Given the description of an element on the screen output the (x, y) to click on. 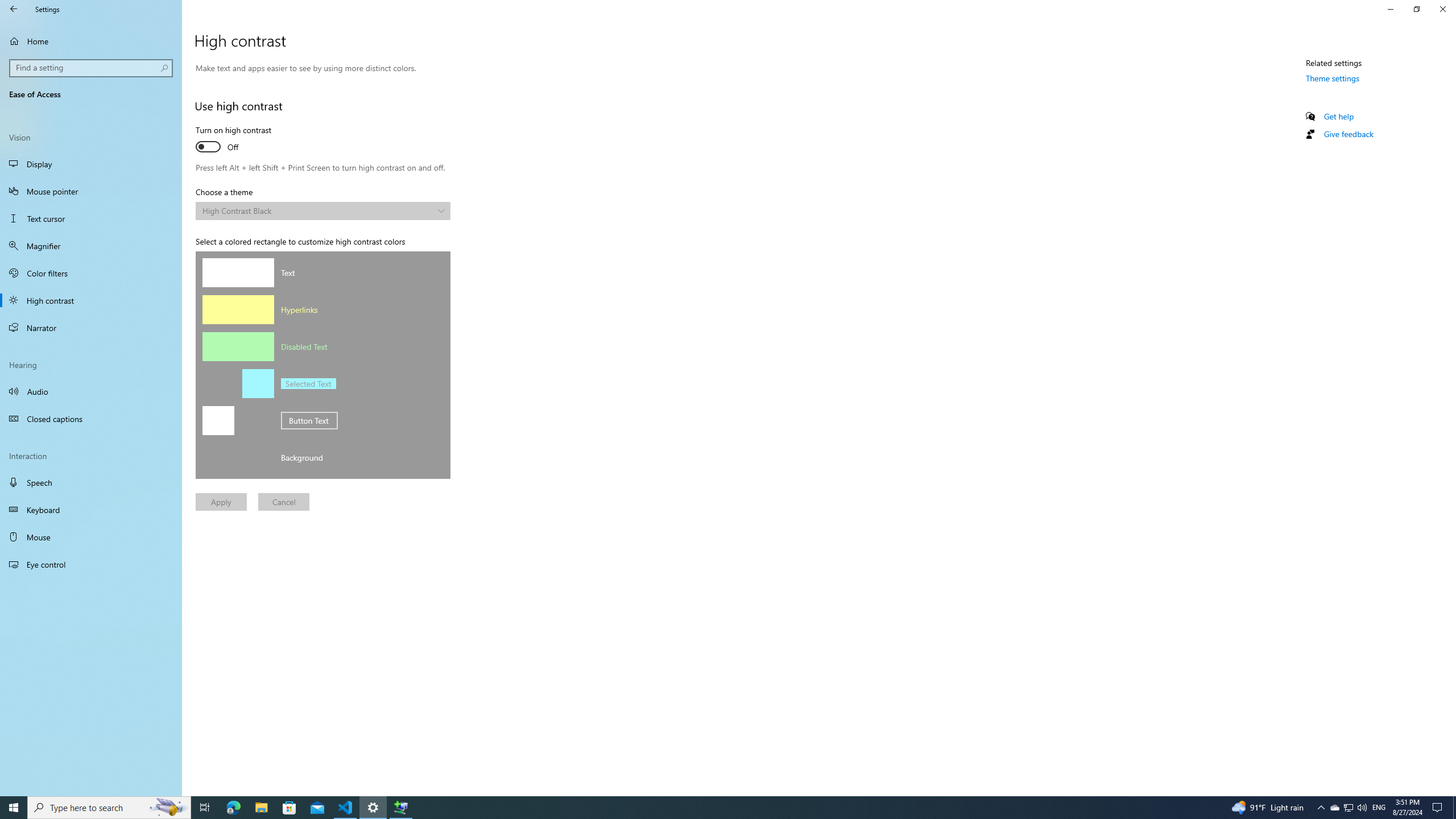
Display (91, 163)
Text cursor (91, 217)
Theme settings (1332, 77)
User Promoted Notification Area (1347, 807)
Turn on high contrast (237, 139)
Restore Settings (1416, 9)
Get help (1338, 116)
Cancel (282, 502)
Button text color (218, 420)
Apply (221, 502)
Background color (237, 457)
Disabled text color (237, 346)
Type here to search (108, 807)
Task View (204, 807)
Close Settings (1442, 9)
